Given the description of an element on the screen output the (x, y) to click on. 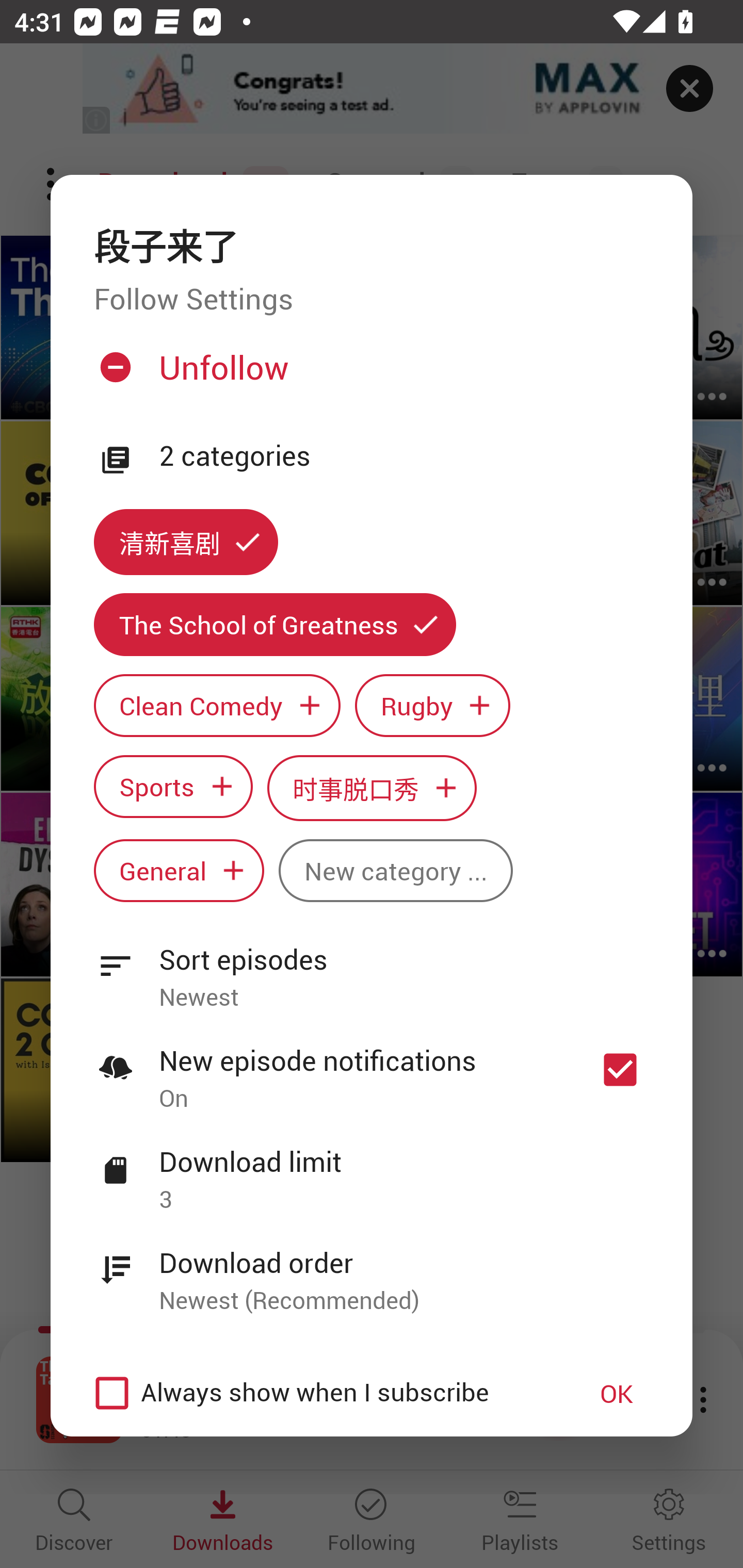
Unfollow (369, 374)
2 categories (404, 455)
清新喜剧 (185, 542)
The School of Greatness (274, 623)
Clean Comedy (216, 705)
Rugby (432, 705)
Sports (172, 786)
时事脱口秀 (372, 788)
General (178, 869)
New category ... (395, 869)
Sort episodes Newest (371, 967)
New episode notifications (620, 1070)
Download limit 3 (371, 1168)
Download order Newest (Recommended) (371, 1269)
OK (616, 1393)
Always show when I subscribe (320, 1393)
